Given the description of an element on the screen output the (x, y) to click on. 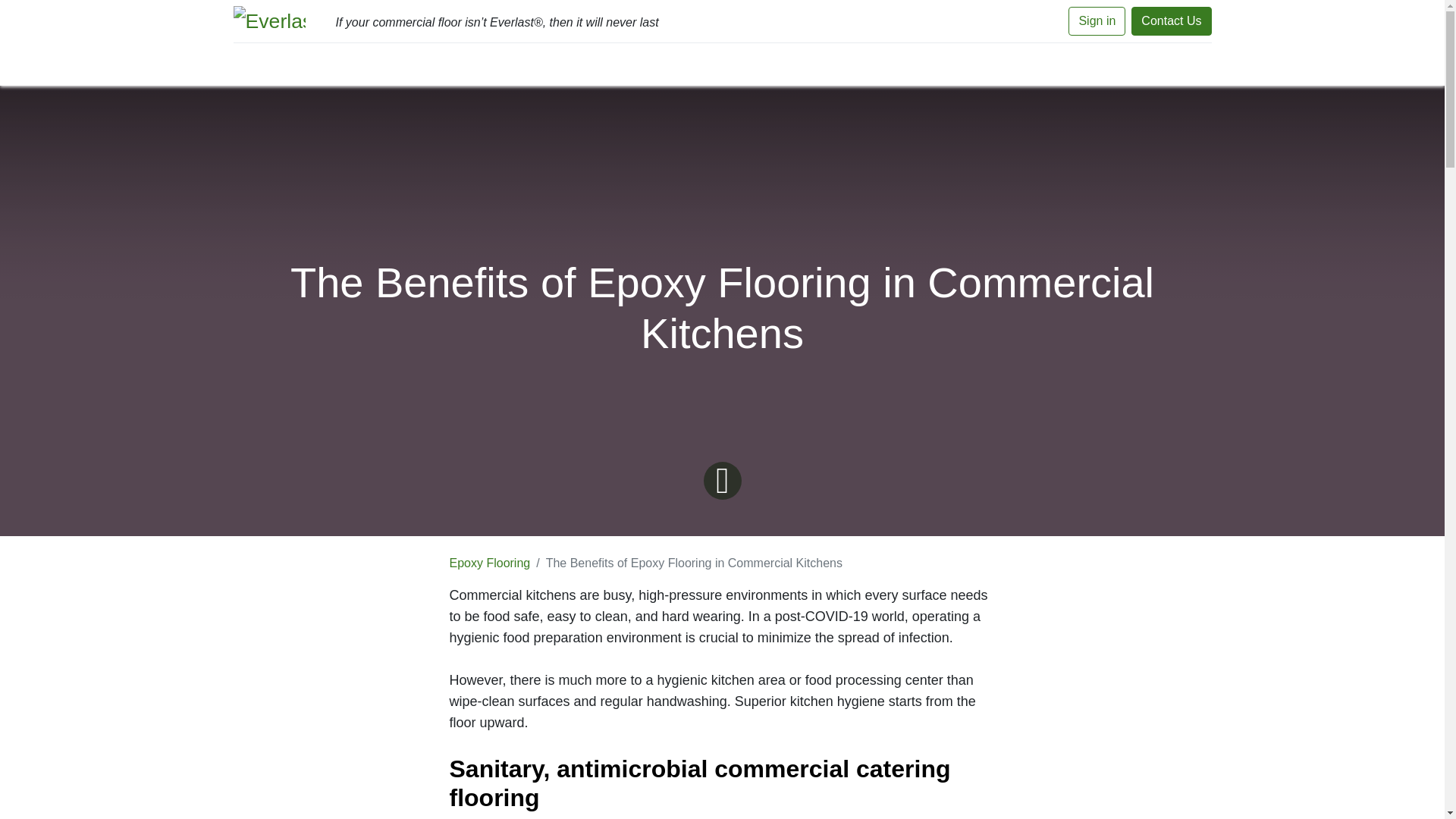
Everlast Epoxy Systems (268, 20)
Contact Us (1171, 21)
Sign in (1096, 21)
